Given the description of an element on the screen output the (x, y) to click on. 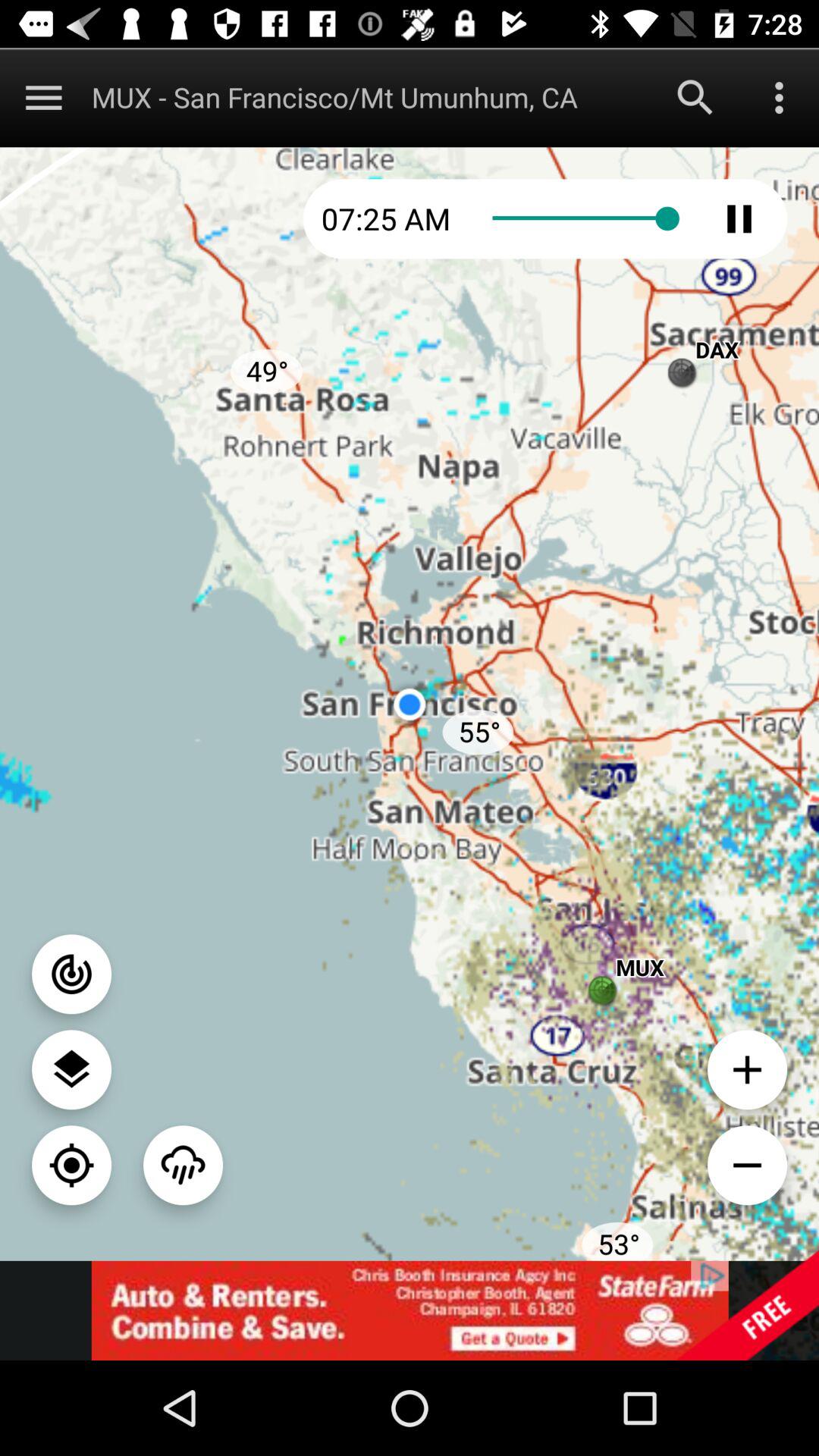
location button (71, 1165)
